Given the description of an element on the screen output the (x, y) to click on. 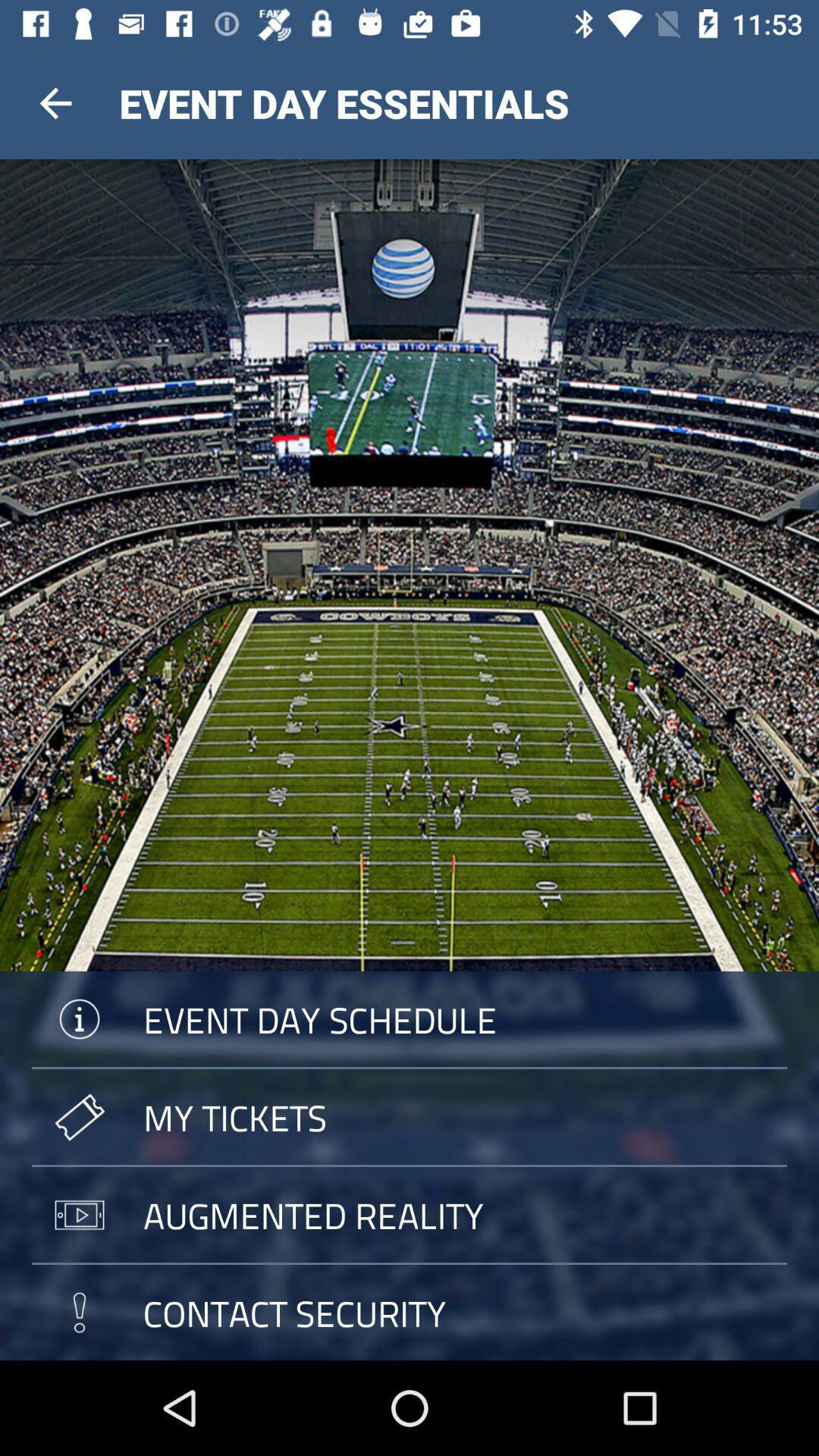
jump until the augmented reality item (409, 1214)
